Given the description of an element on the screen output the (x, y) to click on. 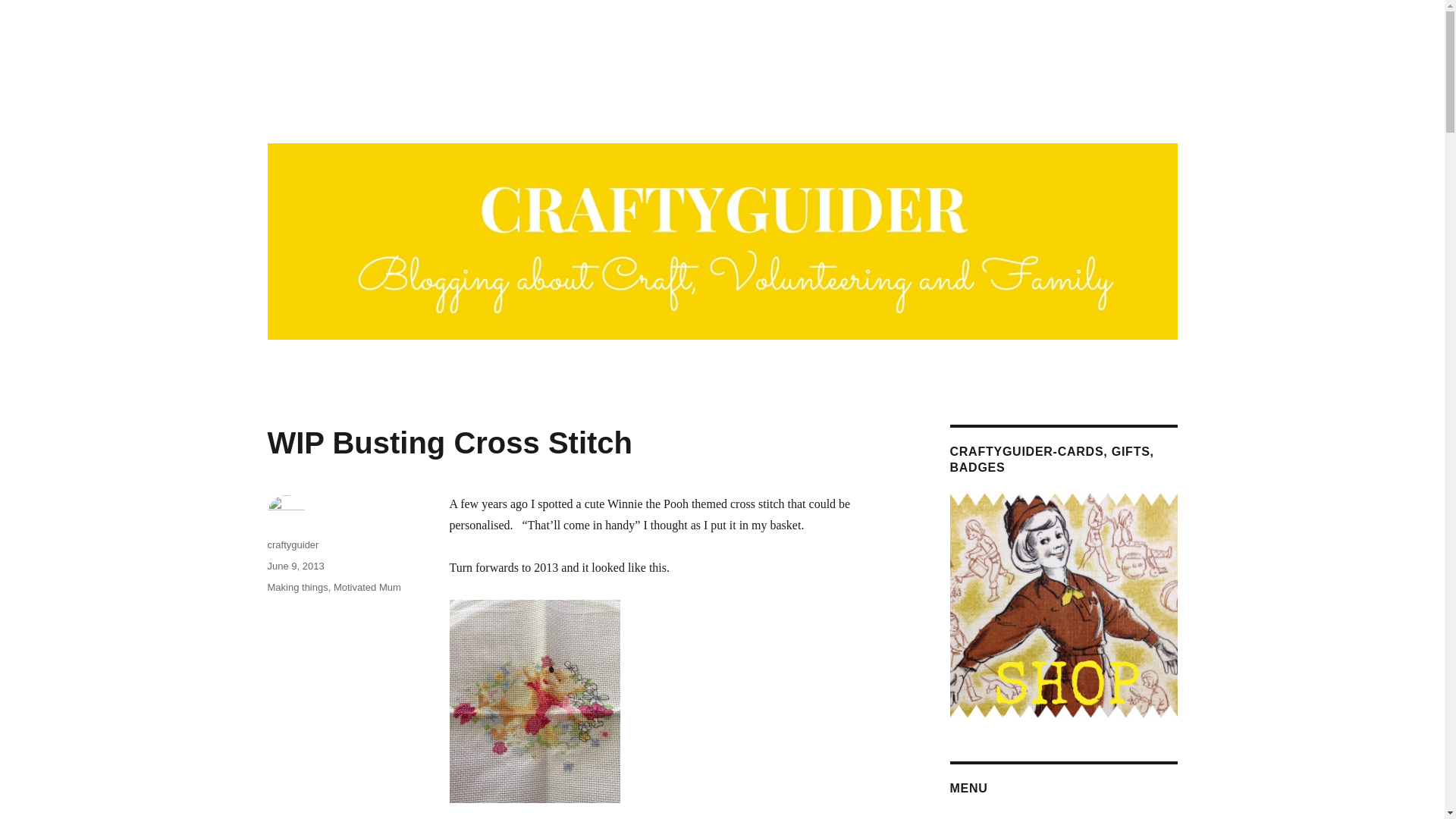
Making things (296, 586)
craftyguider (292, 544)
June 9, 2013 (294, 565)
CraftyGuider (331, 114)
Motivated Mum (367, 586)
